Given the description of an element on the screen output the (x, y) to click on. 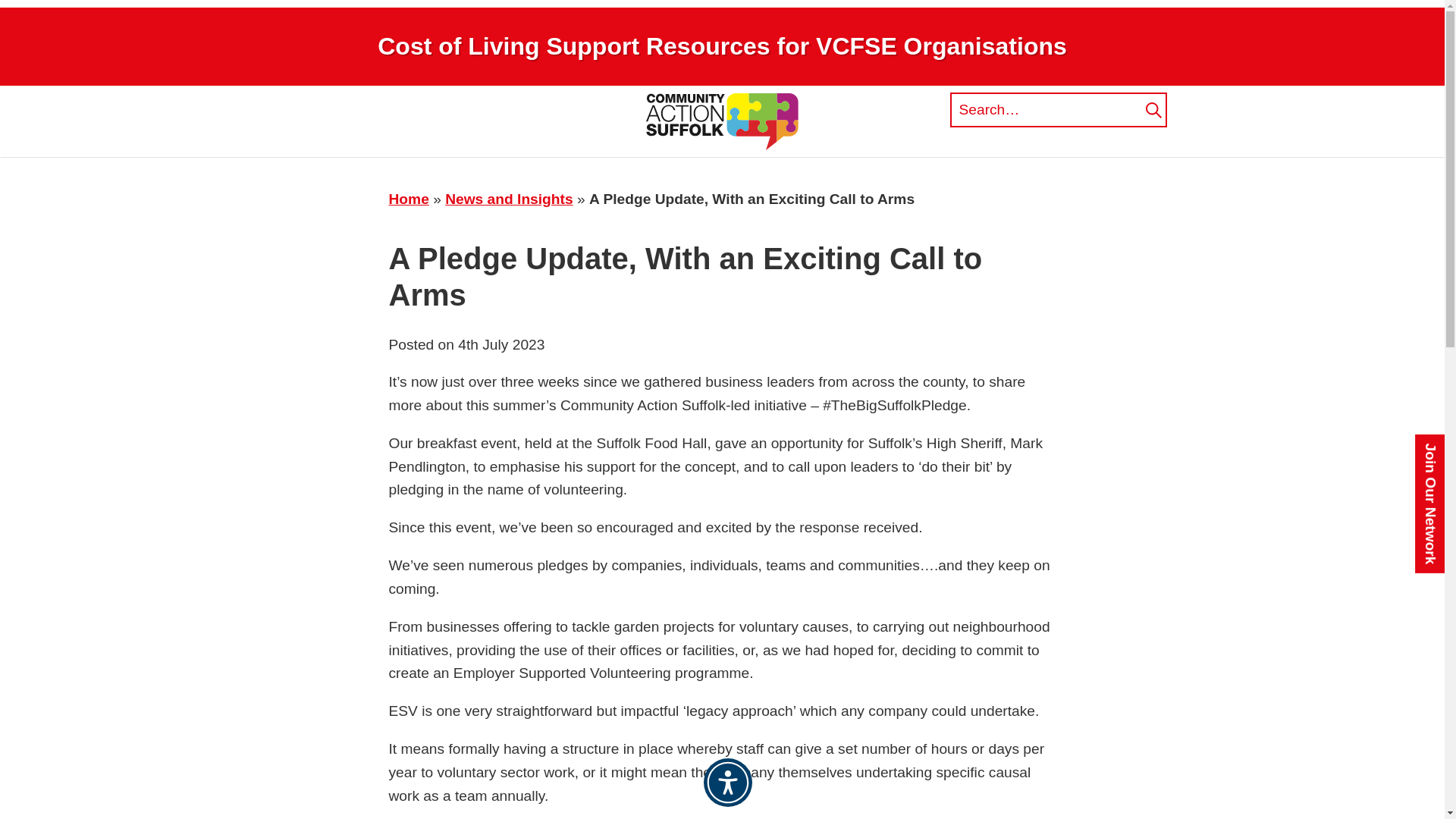
Search for (1057, 110)
Cost of Living Support Resources for VCFSE Organisations (721, 46)
Home (408, 198)
News and Insights (508, 198)
Accessibility Menu (727, 782)
